Given the description of an element on the screen output the (x, y) to click on. 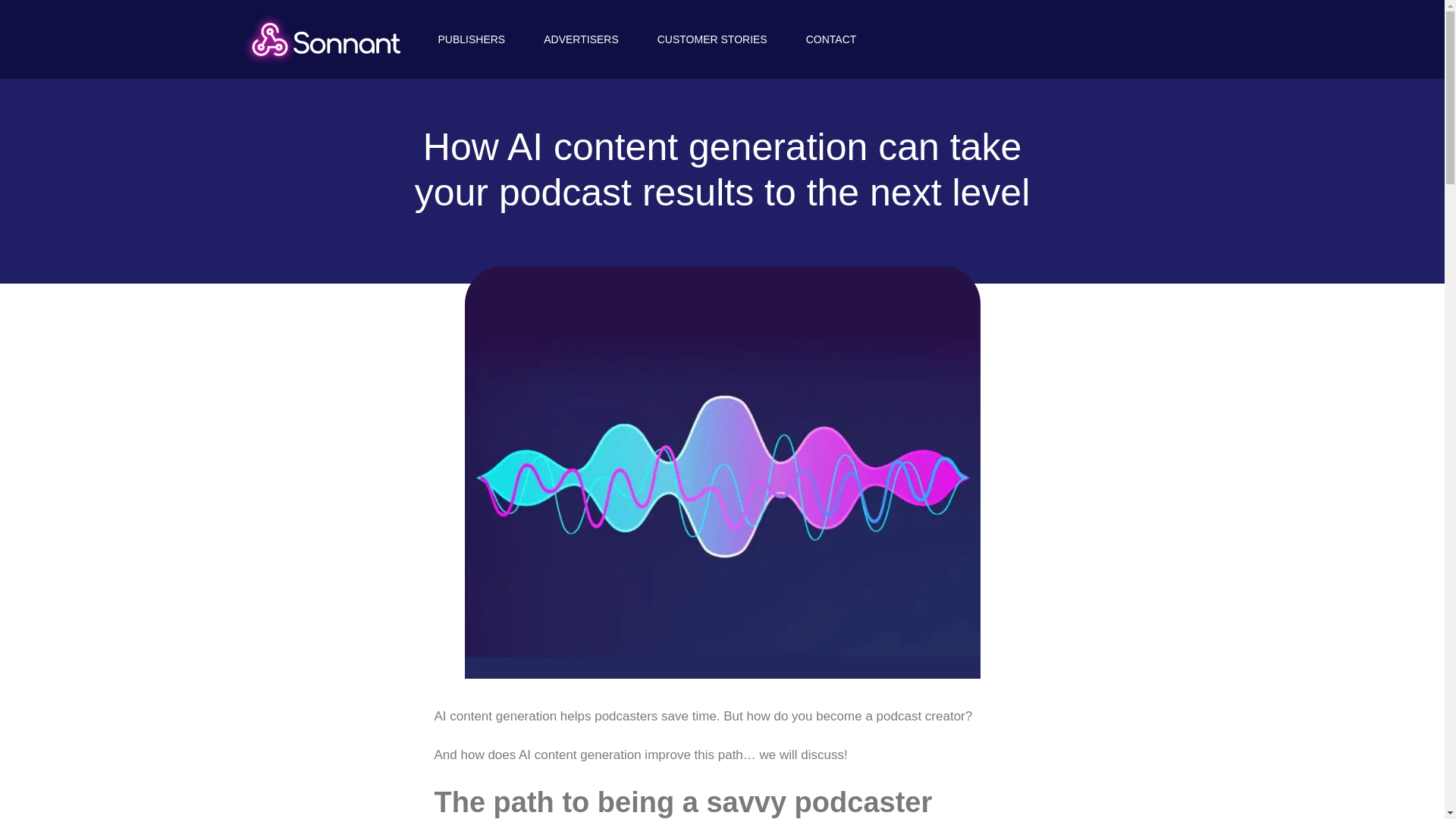
ADVERTISERS (581, 39)
CUSTOMER STORIES (712, 39)
PUBLISHERS (471, 39)
CONTACT (830, 39)
